Given the description of an element on the screen output the (x, y) to click on. 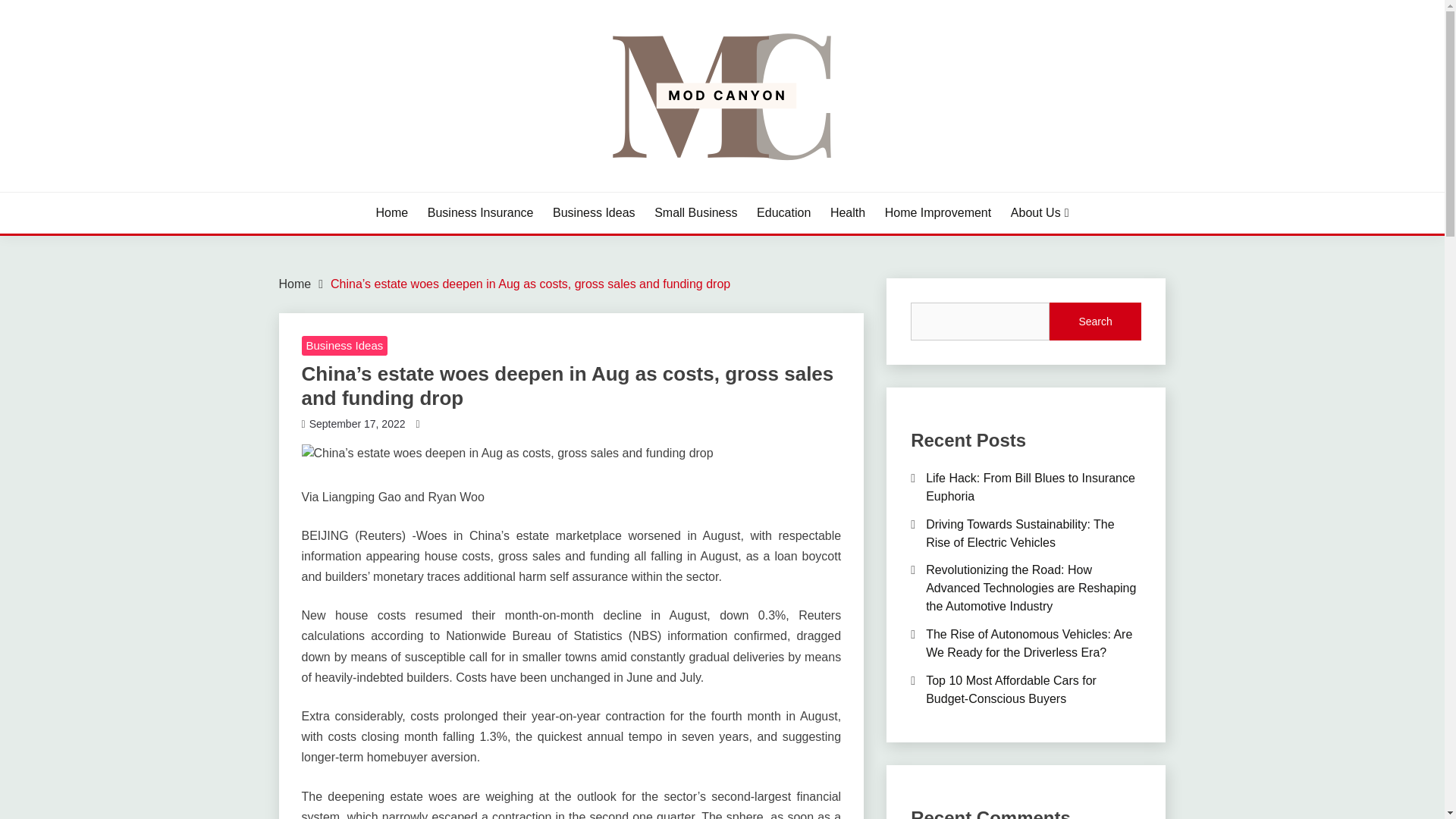
Health (846, 212)
Home (392, 212)
Small Business (694, 212)
Search (1095, 321)
Business Insurance (481, 212)
Home Improvement (938, 212)
Home (295, 283)
Education (783, 212)
